Given the description of an element on the screen output the (x, y) to click on. 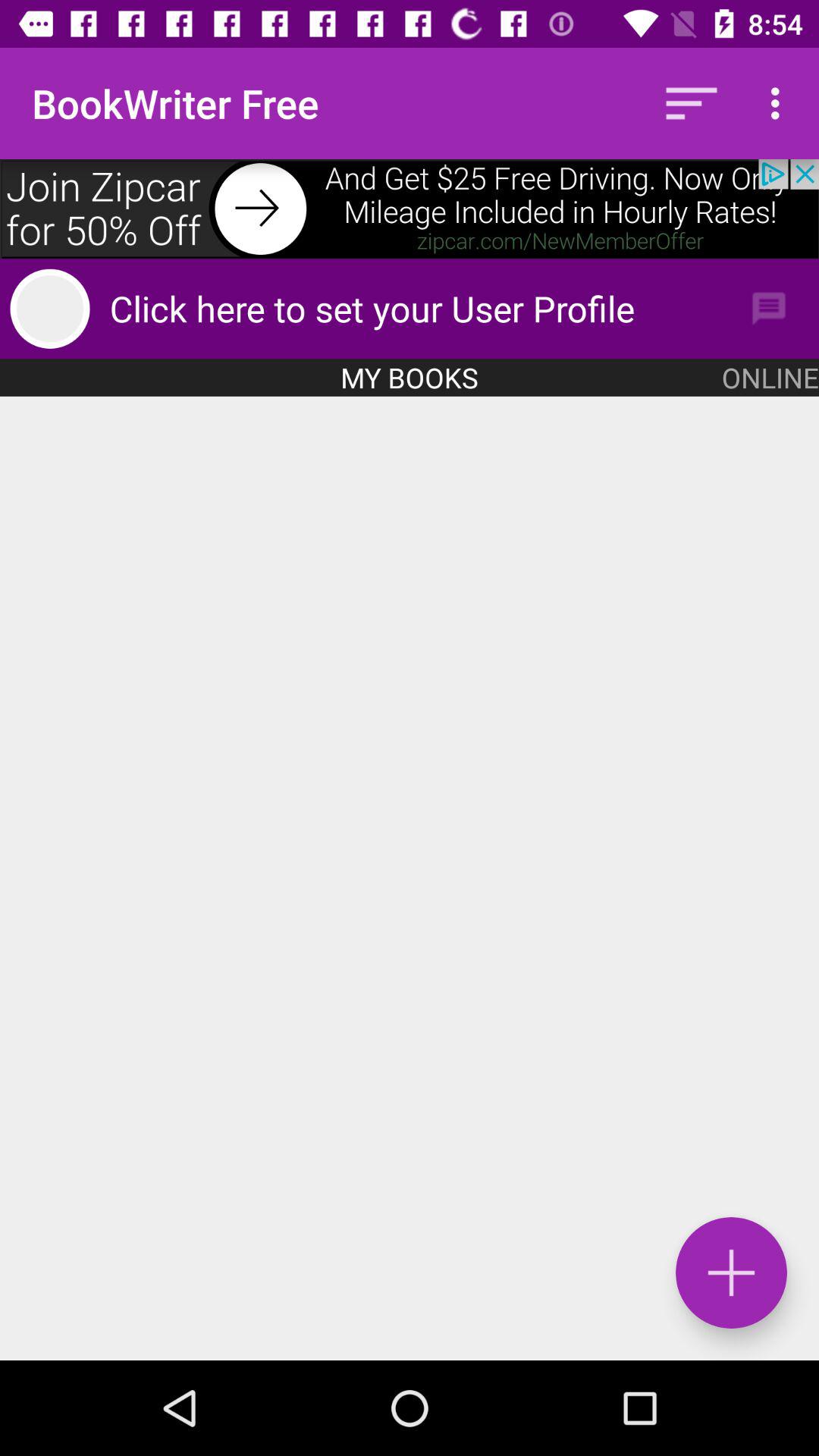
select interface (409, 878)
